Given the description of an element on the screen output the (x, y) to click on. 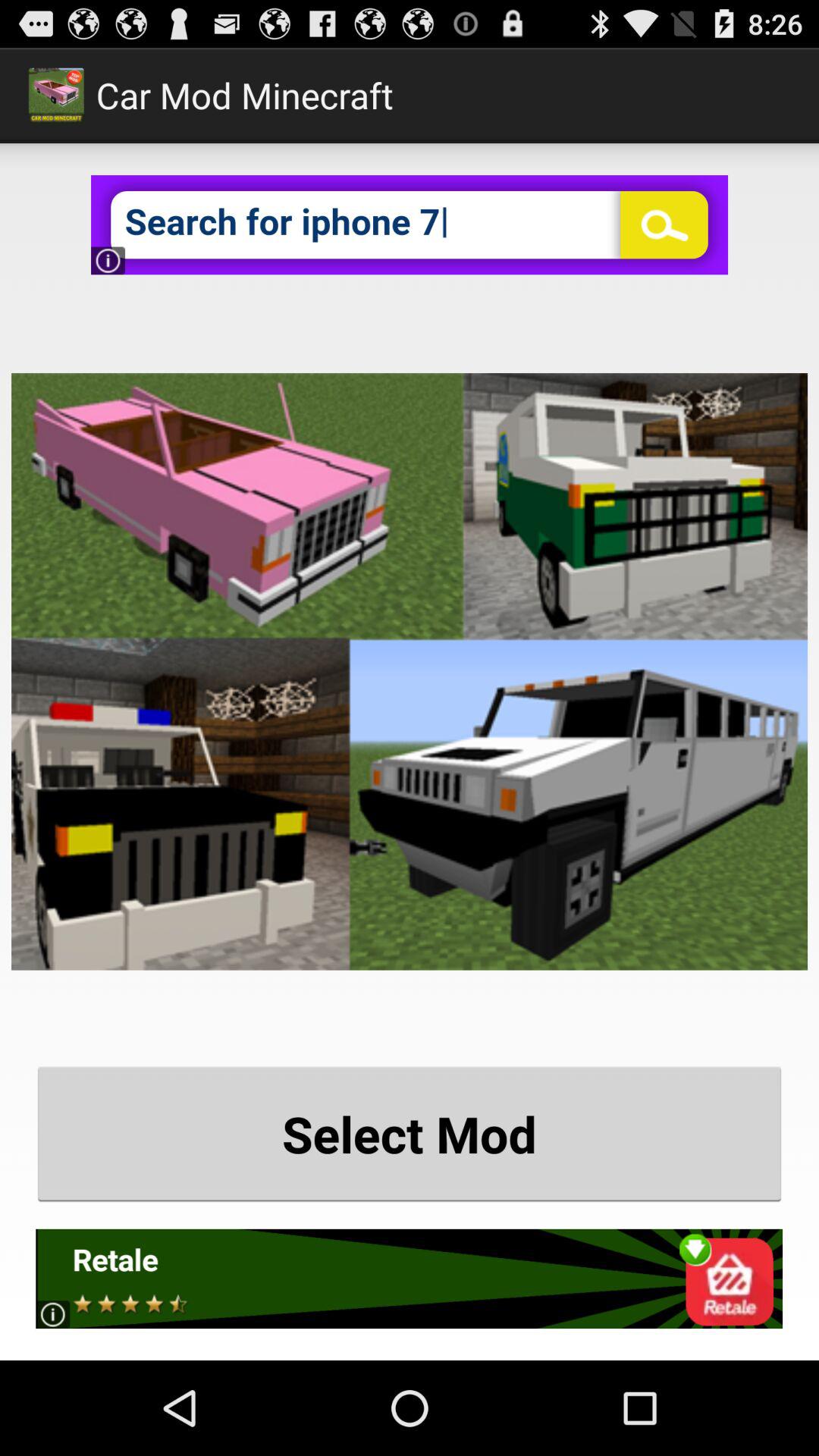
turn off the select mod (409, 1133)
